Given the description of an element on the screen output the (x, y) to click on. 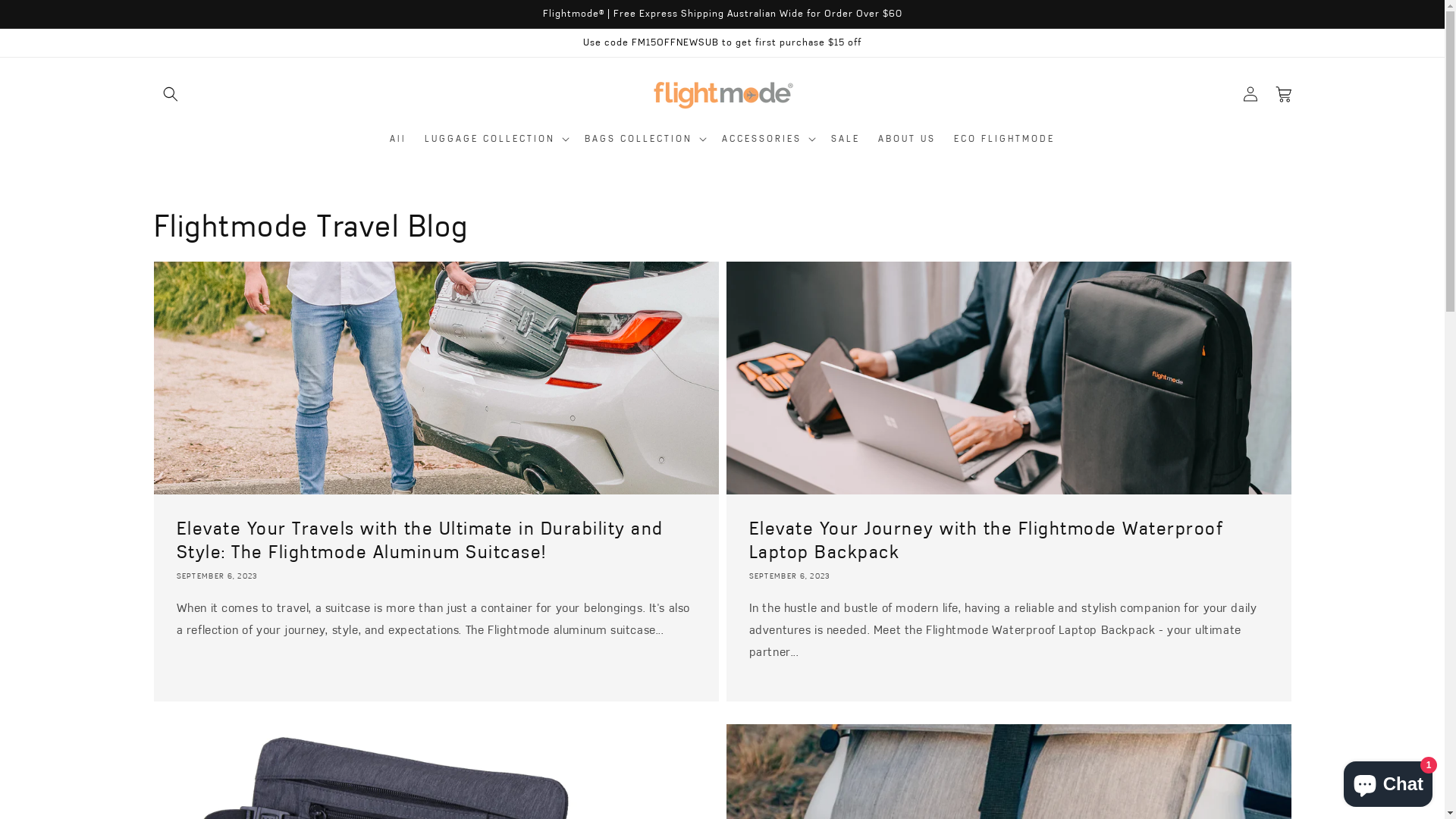
Shopify online store chat Element type: hover (1388, 780)
All Element type: text (397, 138)
ECO FLIGHTMODE Element type: text (1003, 138)
SALE Element type: text (845, 138)
Cart Element type: text (1282, 93)
ABOUT US Element type: text (906, 138)
Log in Element type: text (1249, 93)
